Given the description of an element on the screen output the (x, y) to click on. 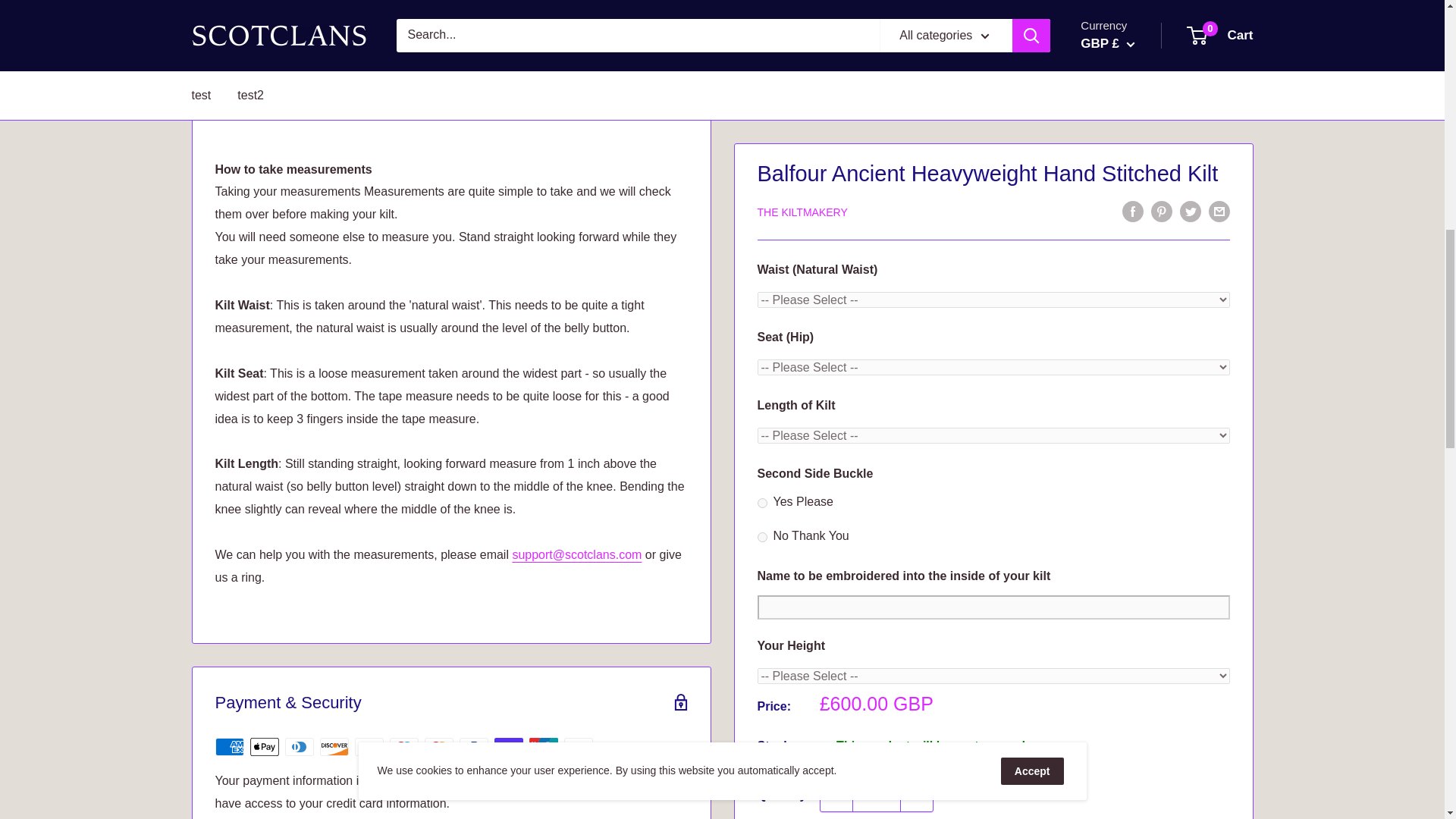
Decrease quantity by 1 (836, 40)
Increase quantity by 1 (917, 40)
1 (876, 40)
